Given the description of an element on the screen output the (x, y) to click on. 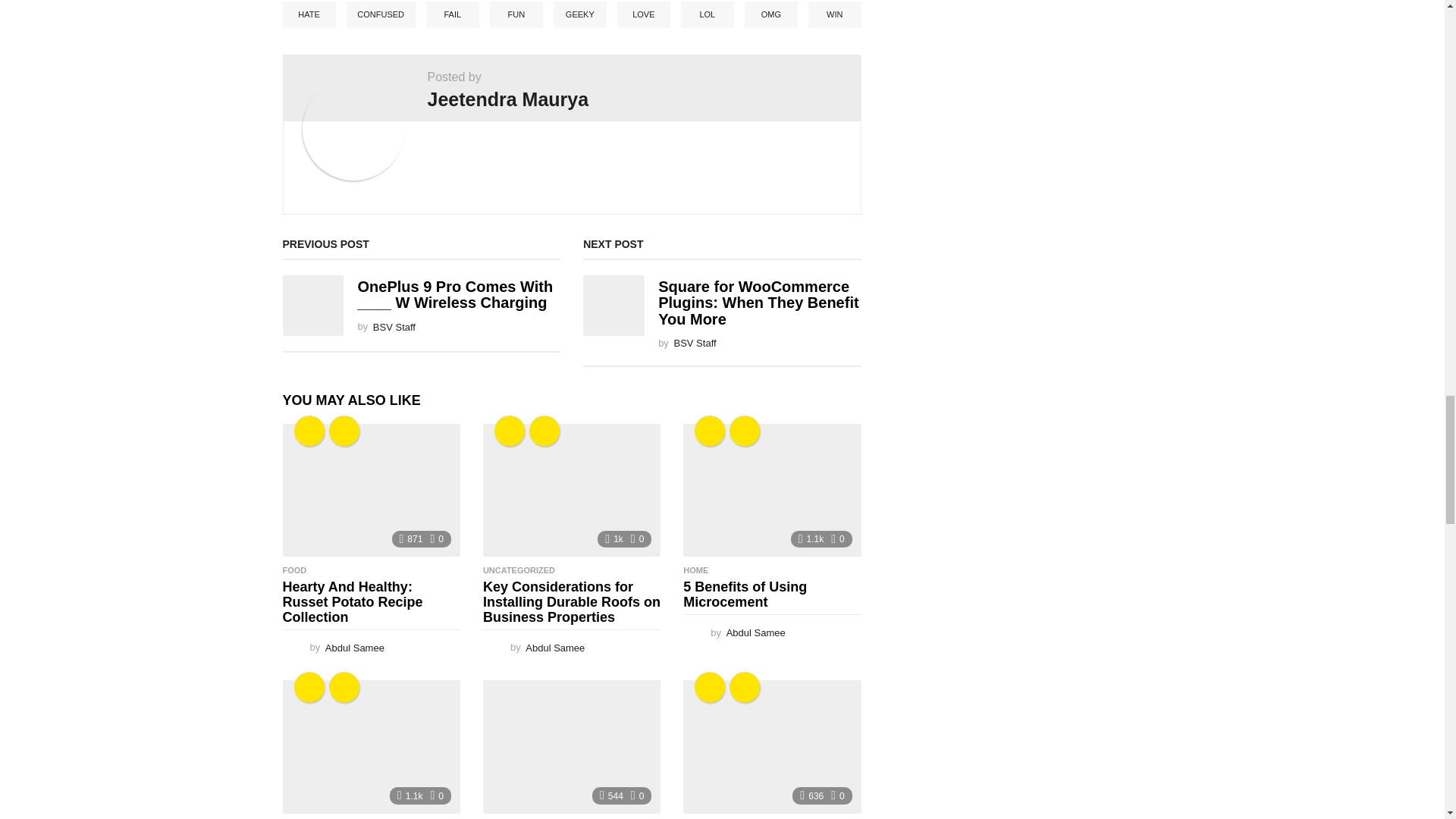
Hearty And Healthy: Russet Potato Recipe Collection (371, 490)
win (344, 430)
geeky (309, 430)
